Given the description of an element on the screen output the (x, y) to click on. 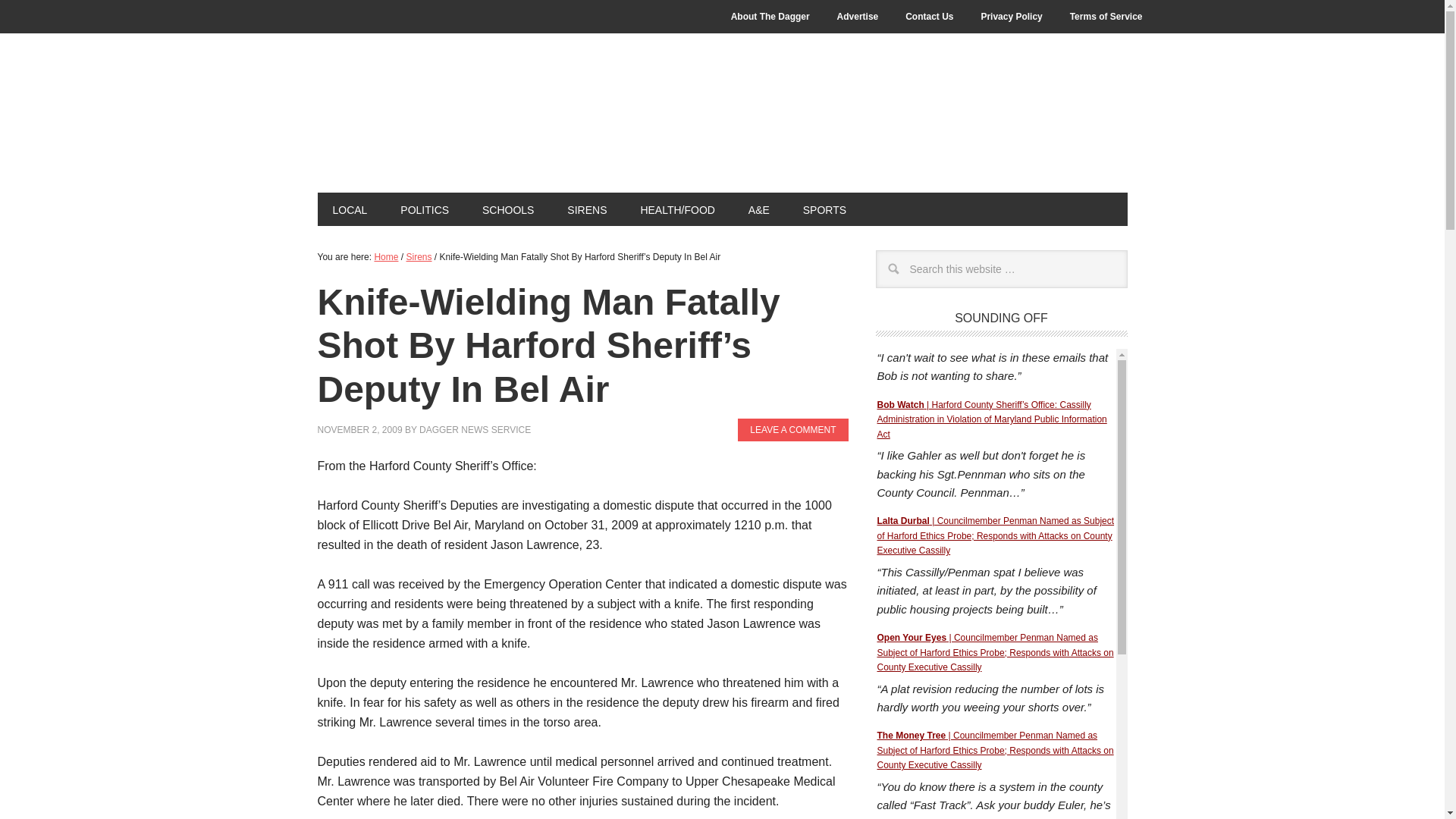
LOCAL (349, 209)
SIRENS (586, 209)
Advertise (858, 16)
Sirens (586, 209)
DAGGER NEWS SERVICE (475, 429)
POLITICS (424, 209)
Contact Us (929, 16)
Sirens (419, 256)
